Given the description of an element on the screen output the (x, y) to click on. 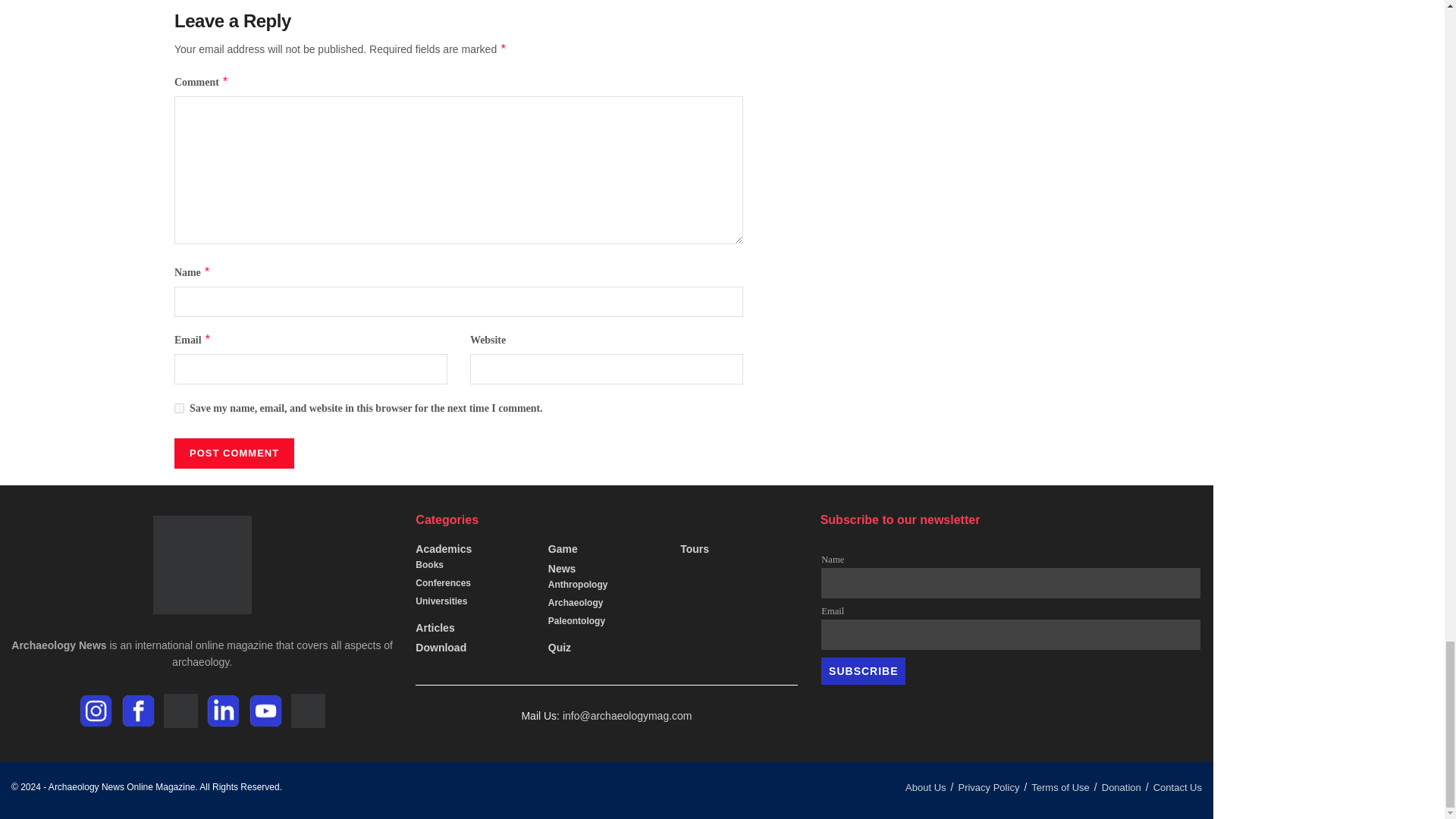
yes (179, 408)
Post Comment (234, 453)
Subscribe (863, 670)
